Given the description of an element on the screen output the (x, y) to click on. 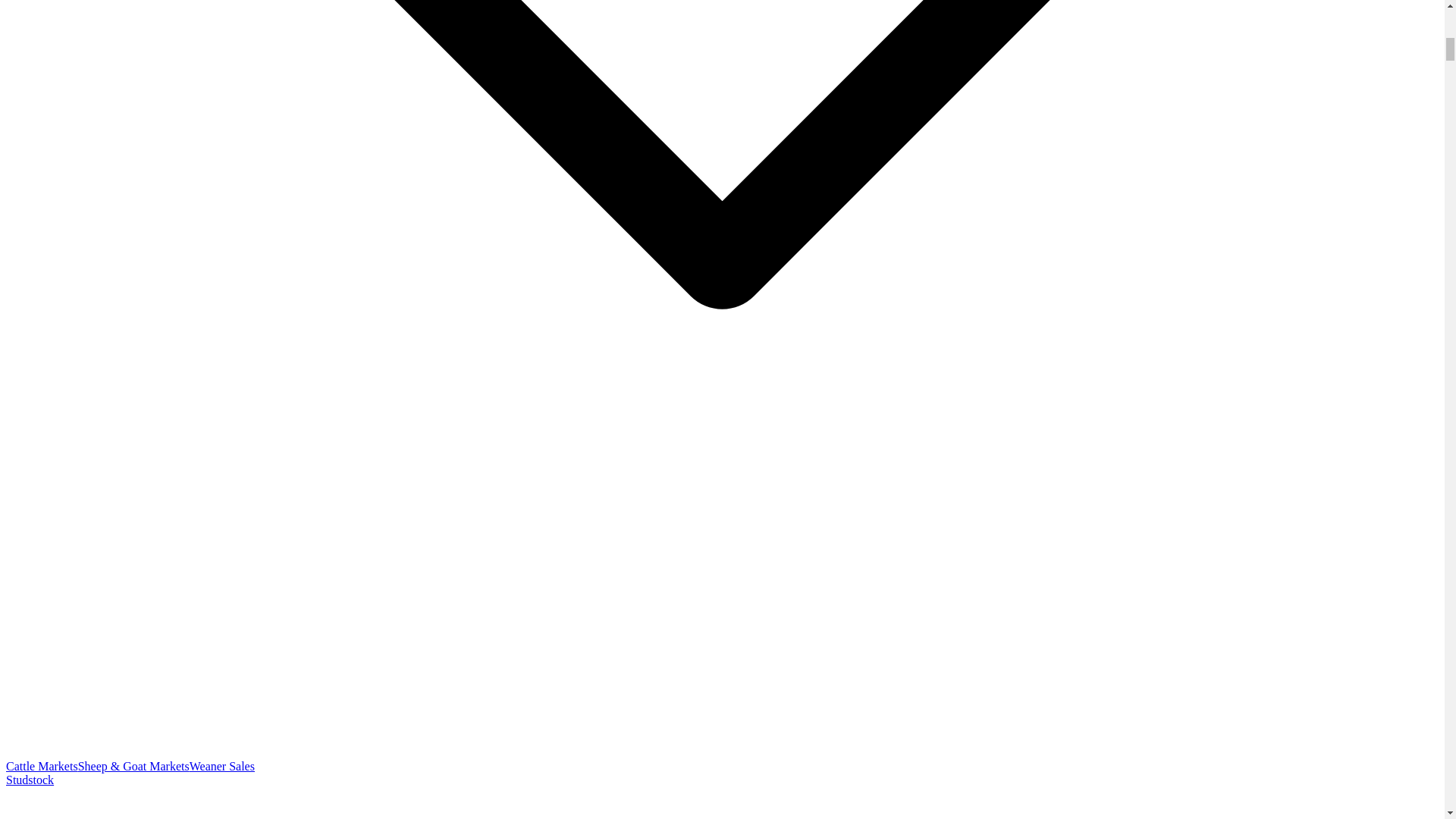
Weaner Sales (221, 766)
Cattle Markets (41, 766)
Studstock (29, 779)
